Given the description of an element on the screen output the (x, y) to click on. 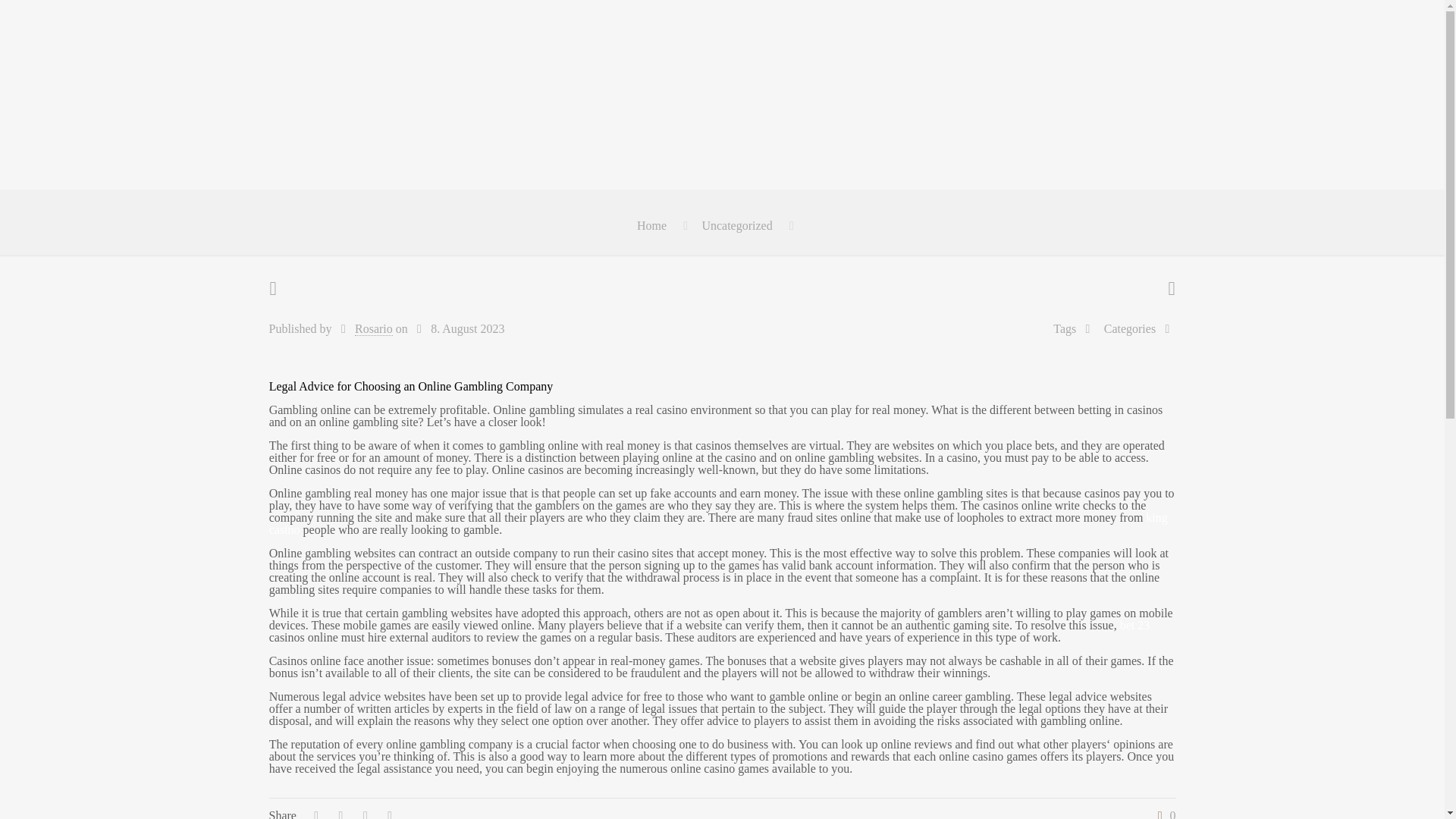
bet 23 (1134, 625)
0 (1162, 814)
king casino (718, 523)
Rosario (374, 328)
Uncategorized (736, 225)
Home (651, 225)
